Given the description of an element on the screen output the (x, y) to click on. 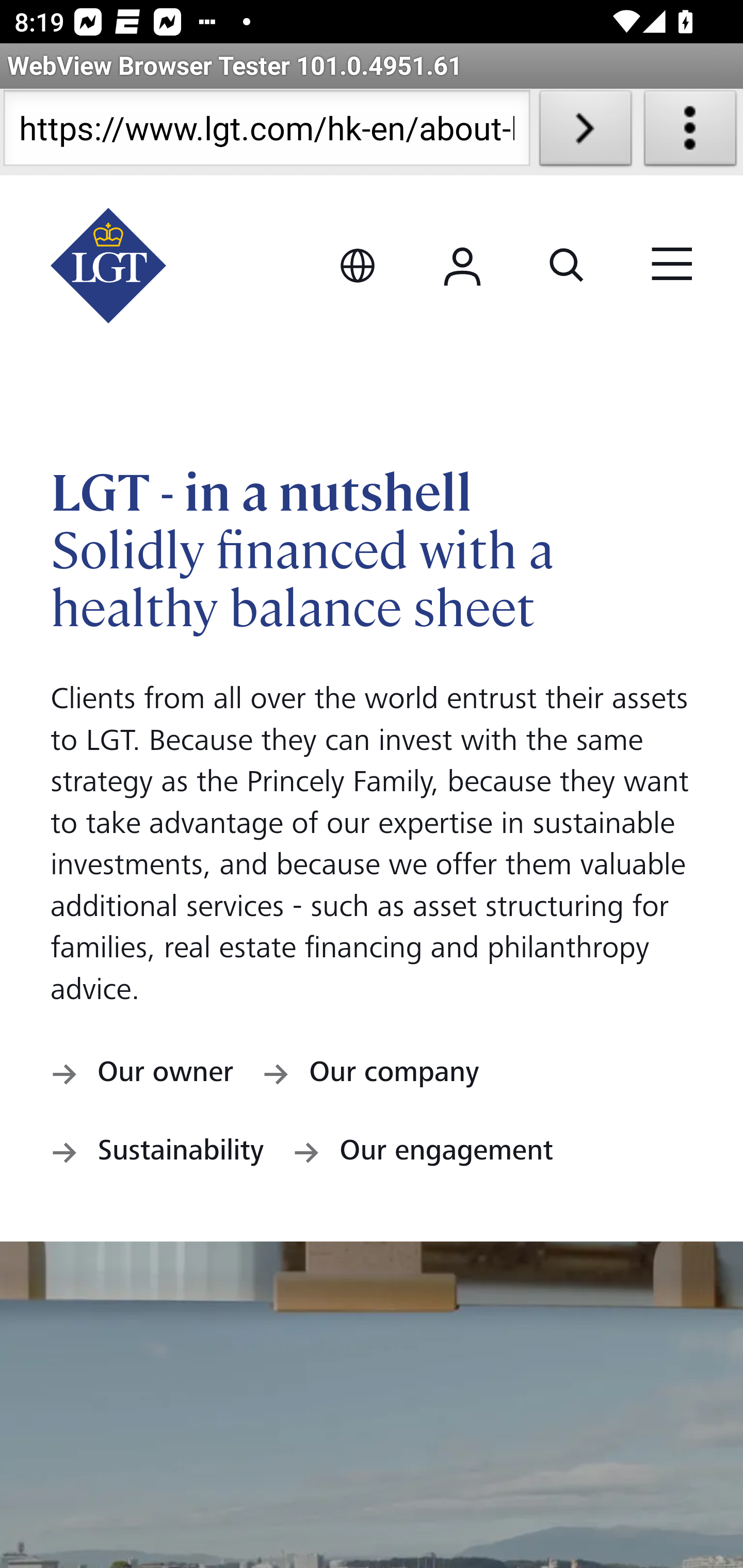
Load URL (585, 132)
About WebView (690, 132)
hk-en (108, 265)
Hong Kong  •  English (357, 266)
Login (461, 266)
Search (566, 266)
Menu (672, 266)
Our owner (142, 1076)
Our company (370, 1076)
Sustainability (157, 1152)
Our engagement (423, 1152)
